Given the description of an element on the screen output the (x, y) to click on. 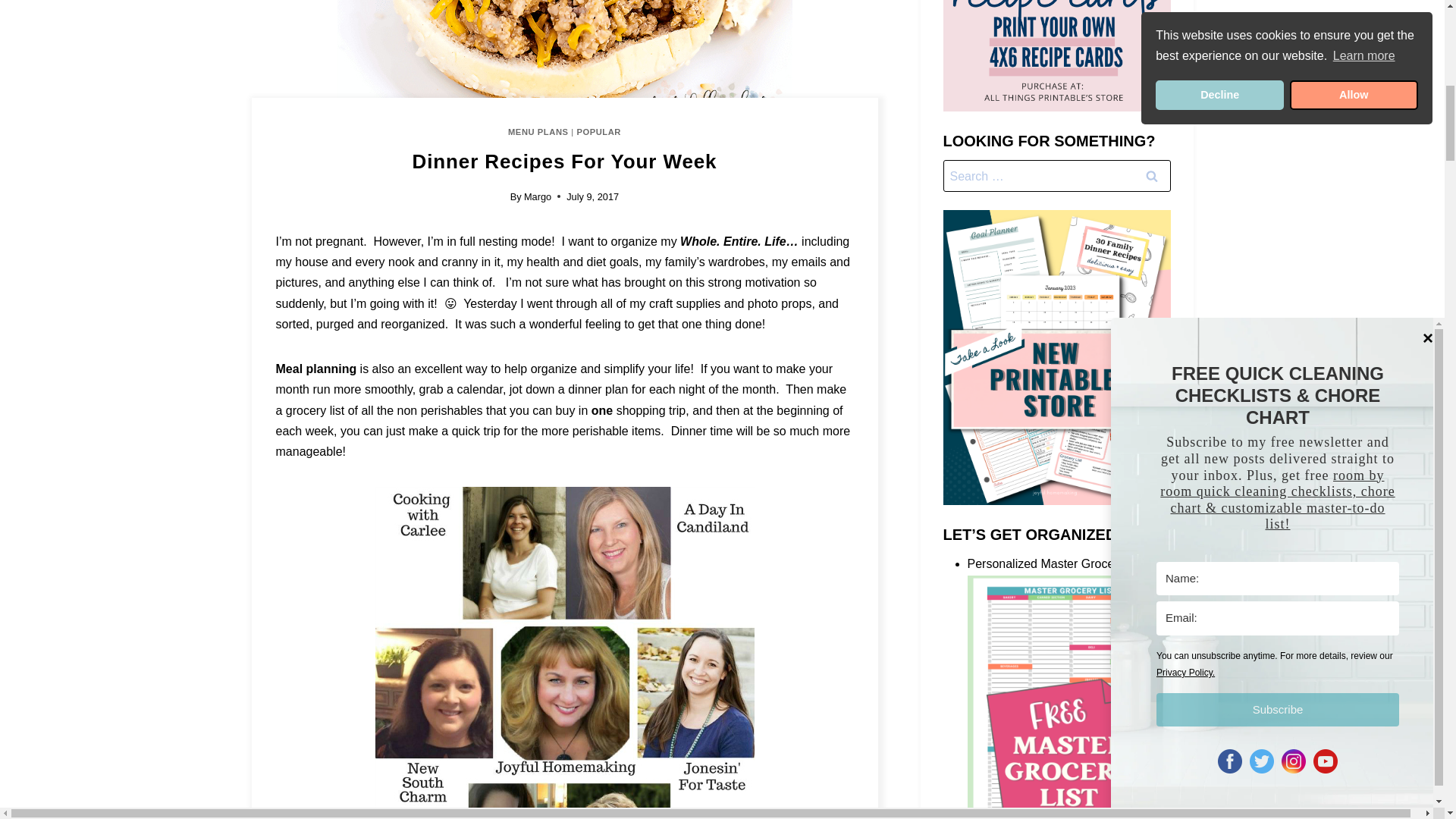
Search (1151, 175)
Search (1151, 175)
